Given the description of an element on the screen output the (x, y) to click on. 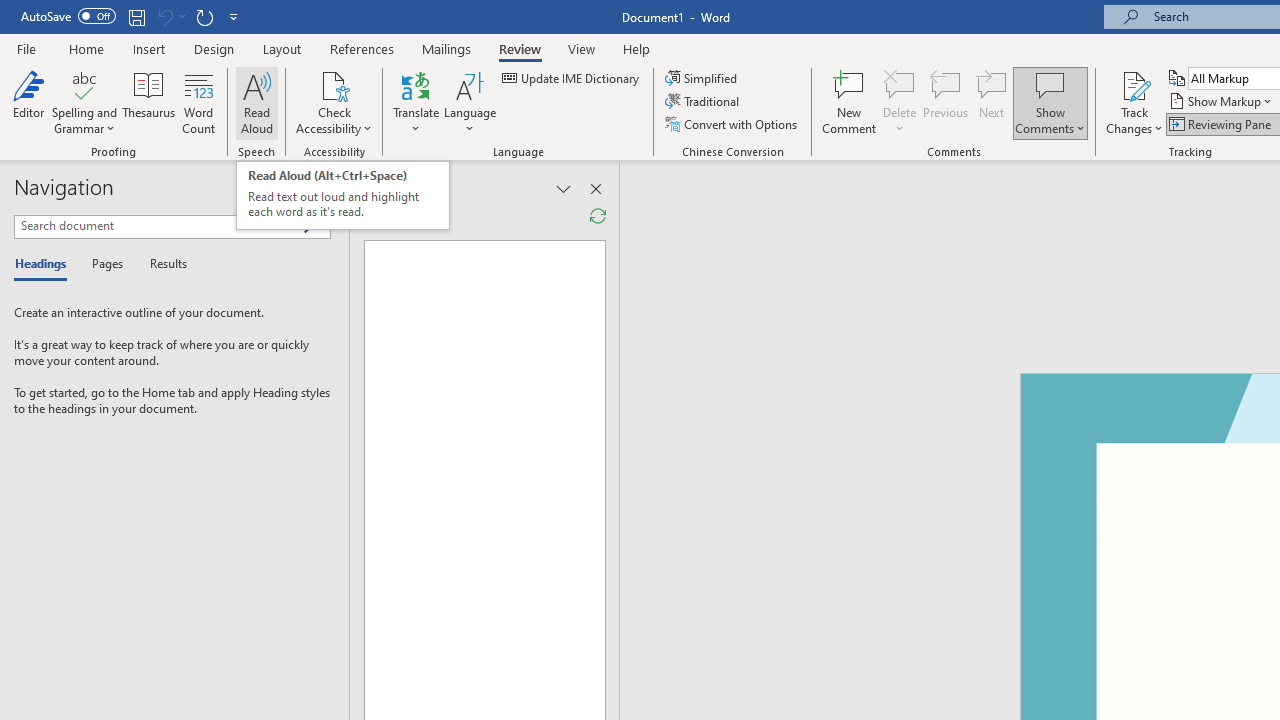
Language (470, 102)
Delete (900, 84)
Word Count (198, 102)
Check Accessibility (334, 102)
Can't Undo (170, 15)
Results (161, 264)
Quick Access Toolbar (131, 16)
Design (214, 48)
Show Detailed Summary (368, 215)
More Options (1134, 121)
Pages (105, 264)
Customize Quick Access Toolbar (234, 15)
